Given the description of an element on the screen output the (x, y) to click on. 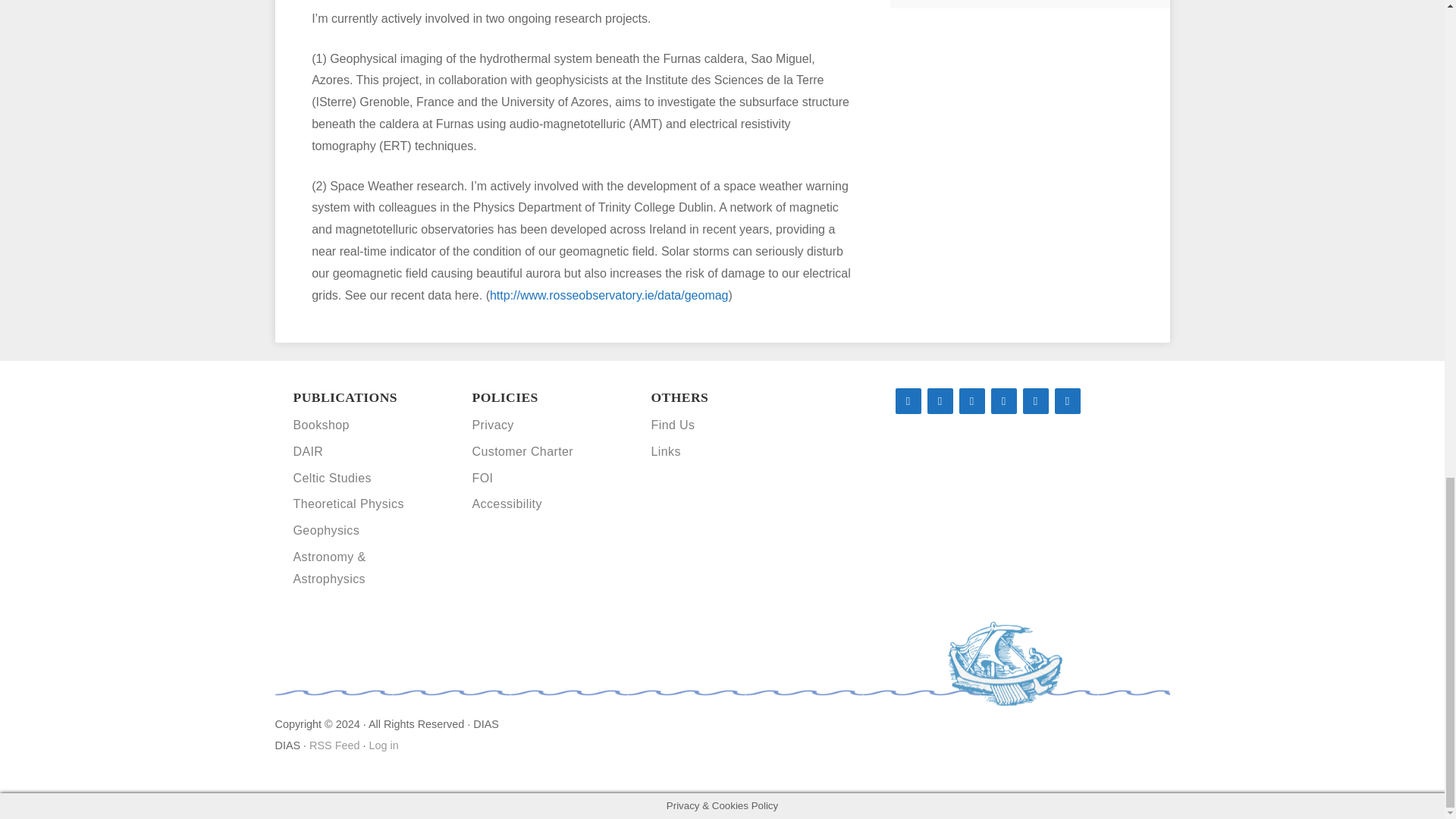
YouTube (1003, 401)
Contact (1067, 401)
Mastodon (907, 401)
Instagram (1035, 401)
Twitter (971, 401)
Facebook (939, 401)
